Given the description of an element on the screen output the (x, y) to click on. 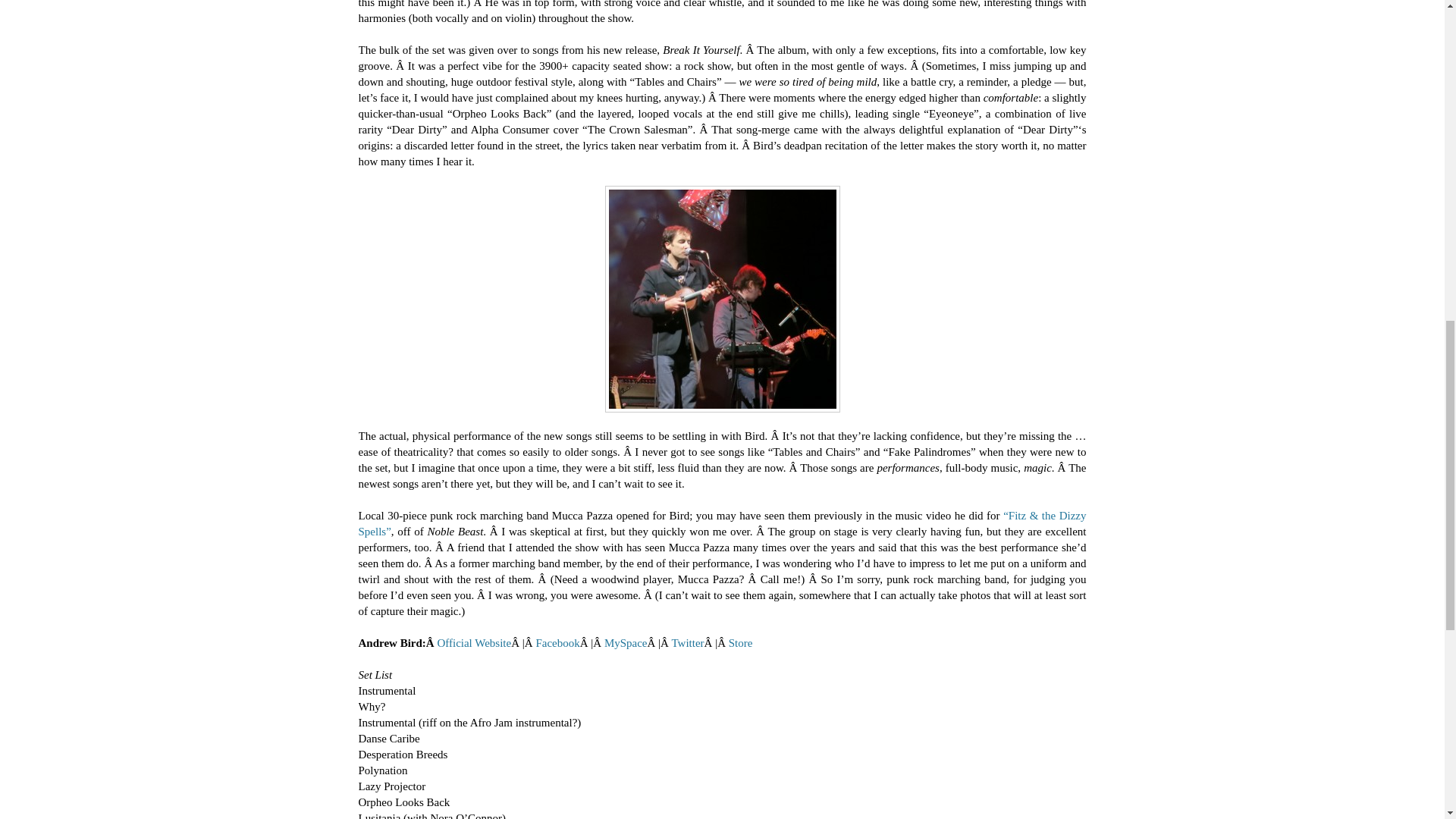
MySpace (625, 643)
Store (740, 643)
Twitter (687, 643)
Official Website (473, 643)
Andrew Bird (722, 298)
Facebook (557, 643)
